Given the description of an element on the screen output the (x, y) to click on. 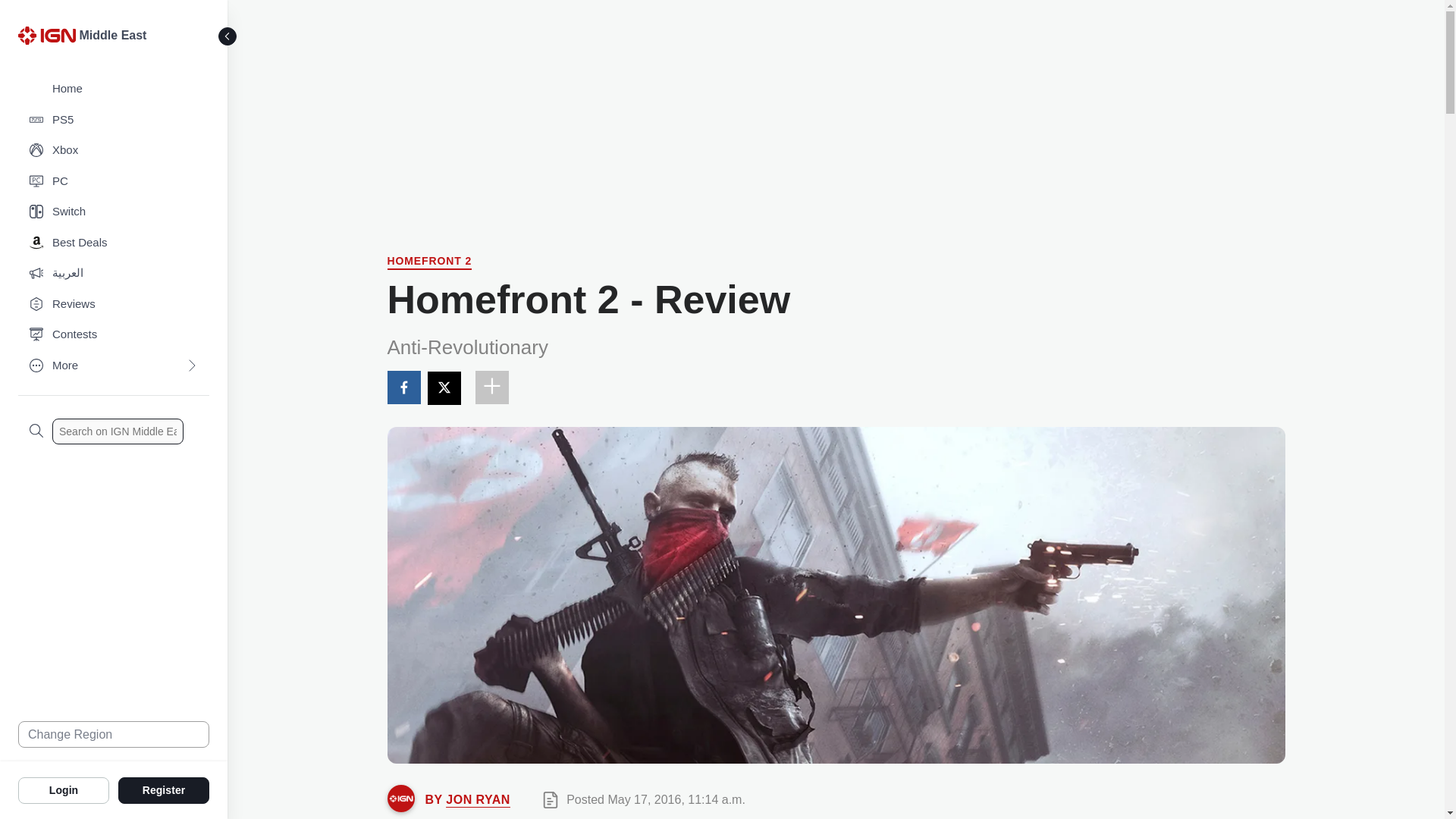
Homefront 2 (429, 262)
HOMEFRONT 2 (429, 262)
Contests (113, 334)
PC (113, 181)
Xbox (113, 150)
Home (113, 89)
Switch (113, 211)
IGN Logo (46, 34)
More (113, 365)
Best Deals (113, 242)
IGN Logo (48, 39)
Toggle Sidebar (226, 36)
Reviews (113, 304)
Login (63, 789)
JON RYAN (477, 799)
